Given the description of an element on the screen output the (x, y) to click on. 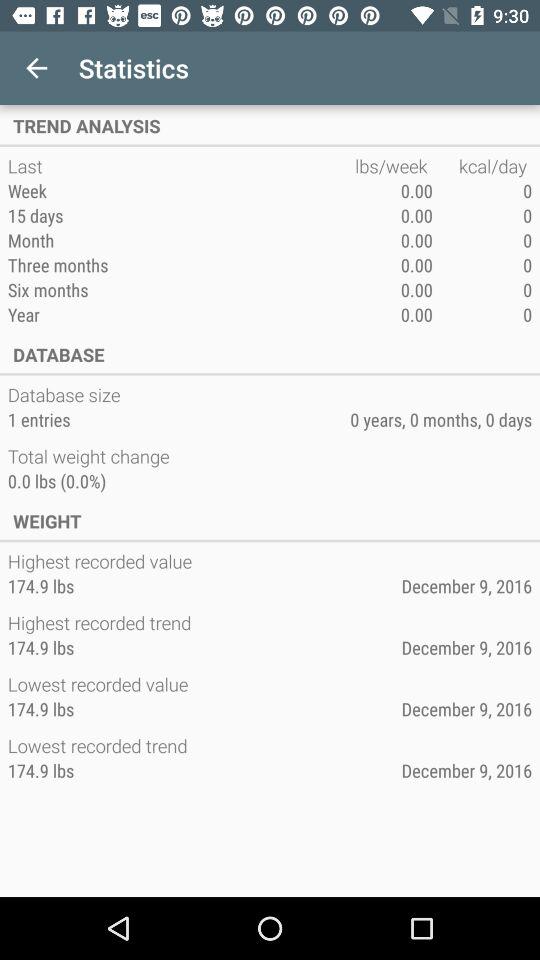
tap icon below the database size (38, 419)
